Given the description of an element on the screen output the (x, y) to click on. 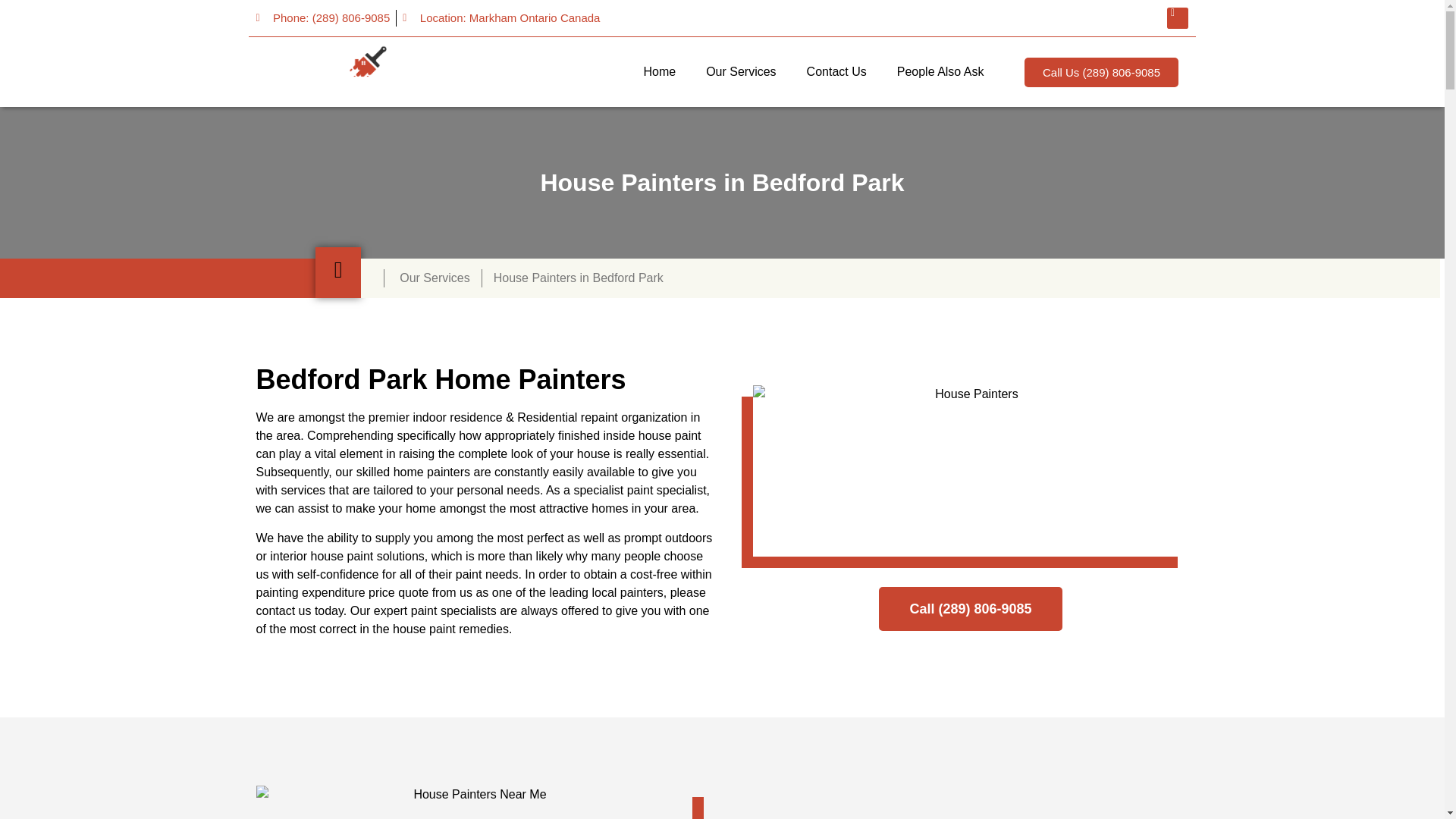
Location: Markham Ontario Canada (501, 18)
Contact Us (837, 71)
Home (658, 71)
Our Services (740, 71)
